Given the description of an element on the screen output the (x, y) to click on. 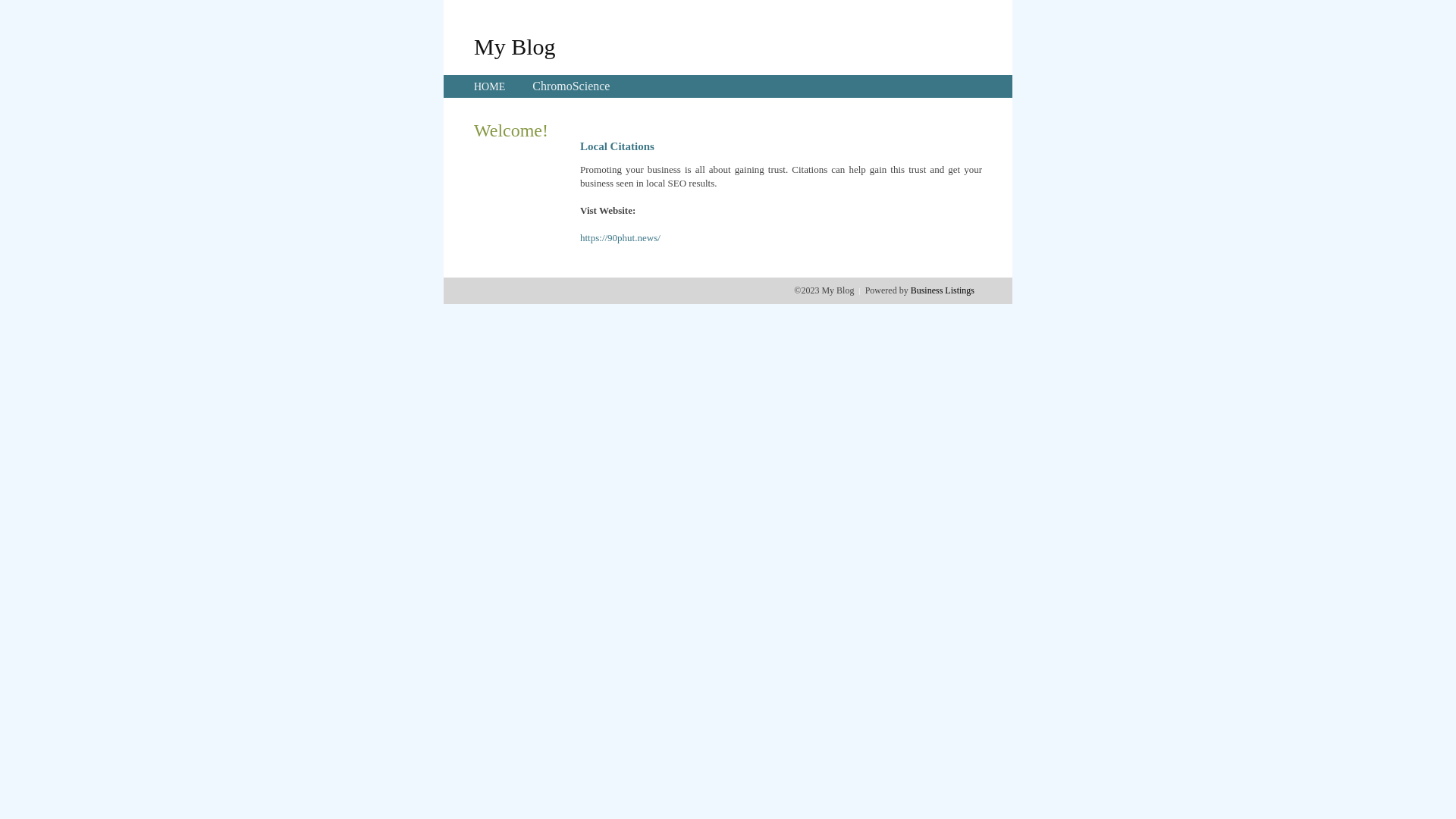
https://90phut.news/ Element type: text (620, 237)
ChromoScience Element type: text (570, 85)
HOME Element type: text (489, 86)
Business Listings Element type: text (942, 290)
My Blog Element type: text (514, 46)
